Given the description of an element on the screen output the (x, y) to click on. 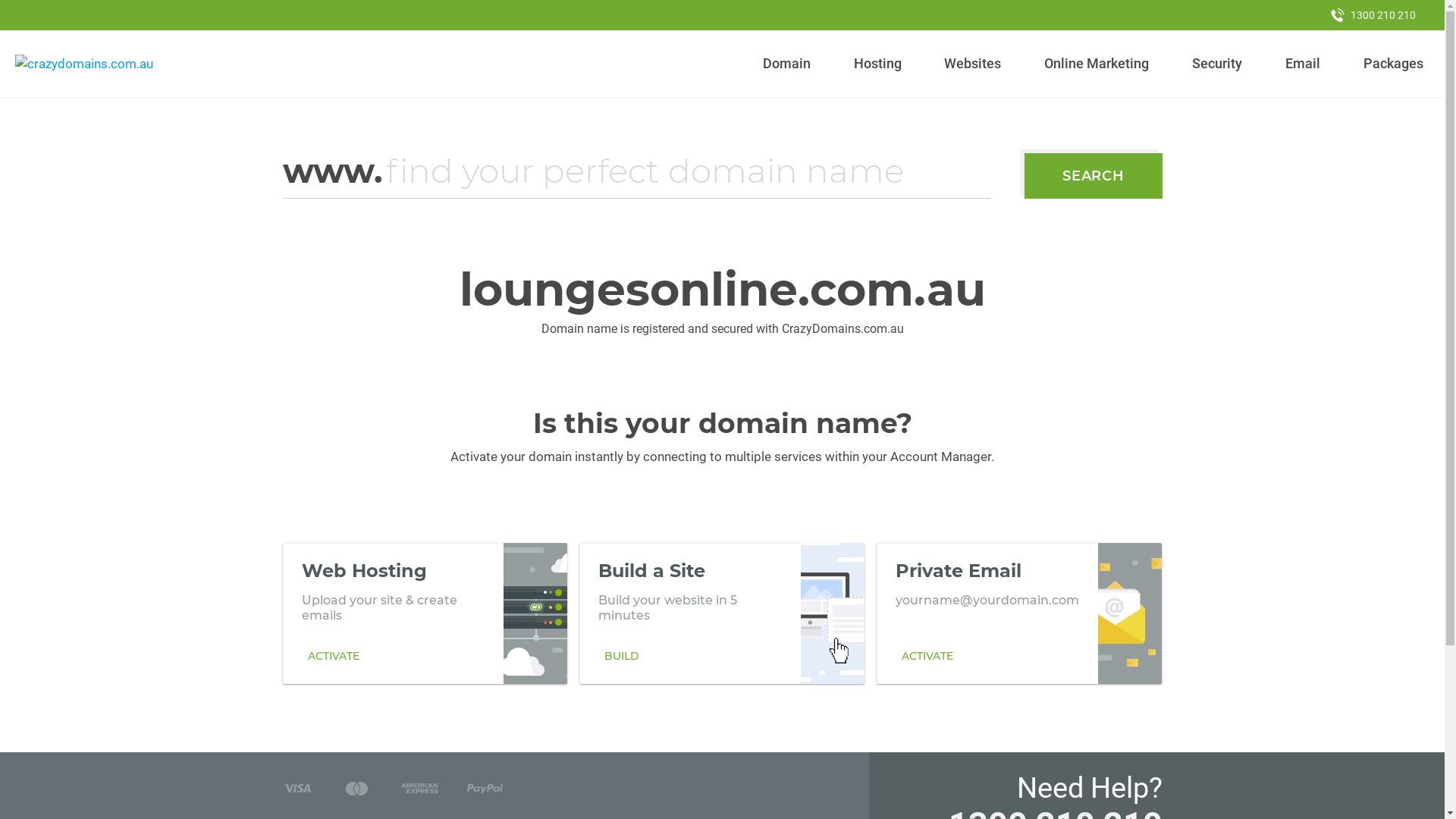
Packages Element type: text (1392, 63)
Web Hosting
Upload your site & create emails
ACTIVATE Element type: text (424, 613)
Email Element type: text (1302, 63)
Domain Element type: text (786, 63)
1300 210 210 Element type: text (1373, 15)
Security Element type: text (1217, 63)
Build a Site
Build your website in 5 minutes
BUILD Element type: text (721, 613)
Private Email
yourname@yourdomain.com
ACTIVATE Element type: text (1018, 613)
Hosting Element type: text (877, 63)
Websites Element type: text (972, 63)
SEARCH Element type: text (1092, 175)
Online Marketing Element type: text (1096, 63)
